Given the description of an element on the screen output the (x, y) to click on. 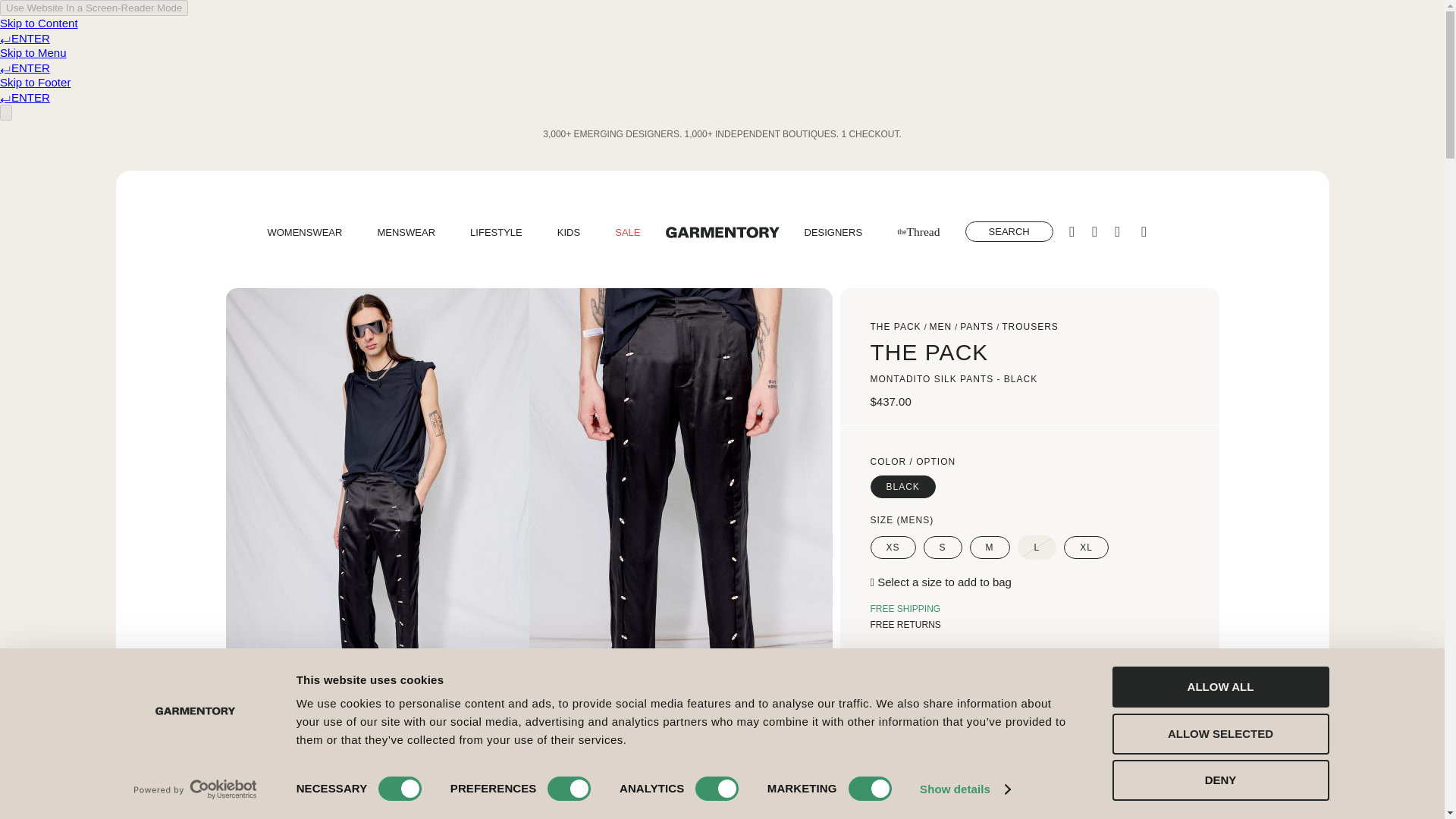
Add to bag (961, 704)
ALLOW ALL (1219, 686)
Show details (964, 789)
ALLOW SELECTED (1219, 732)
DENY (1219, 780)
